Given the description of an element on the screen output the (x, y) to click on. 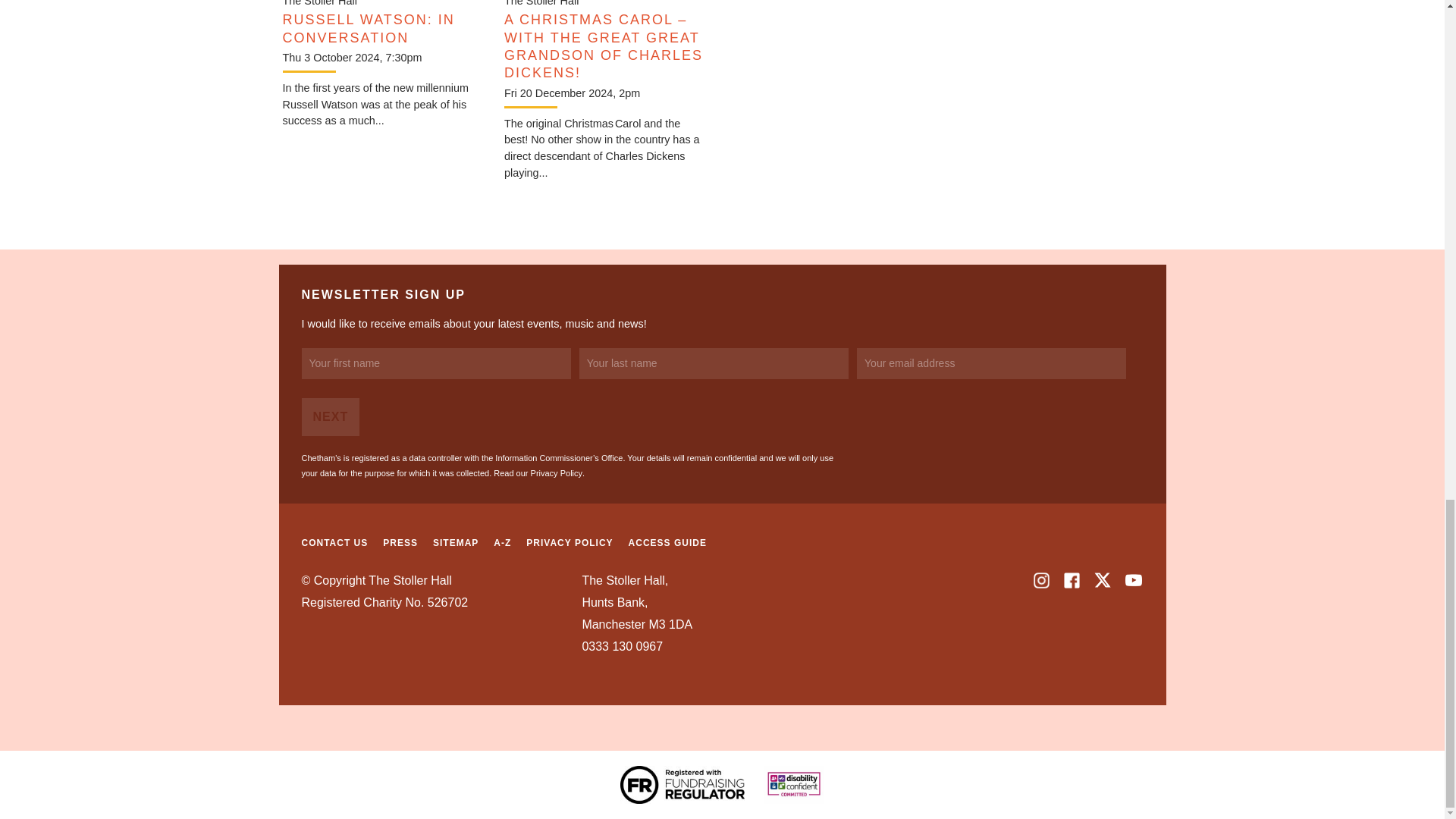
Next (330, 416)
